Given the description of an element on the screen output the (x, y) to click on. 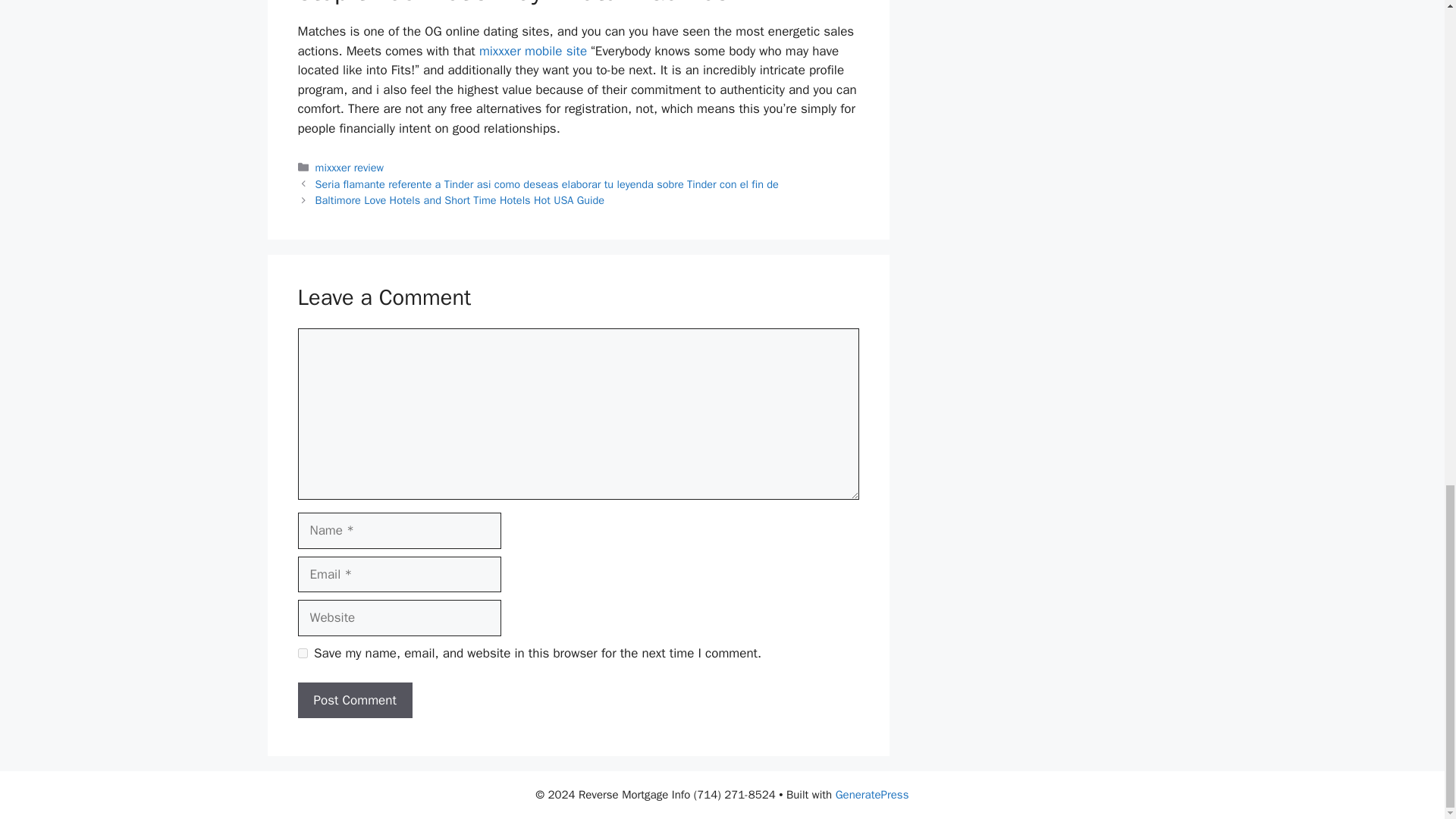
Baltimore Love Hotels and Short Time Hotels Hot USA Guide (459, 200)
yes (302, 653)
GeneratePress (871, 794)
mixxxer mobile site (532, 50)
Post Comment (354, 700)
Post Comment (354, 700)
mixxxer review (349, 167)
